Given the description of an element on the screen output the (x, y) to click on. 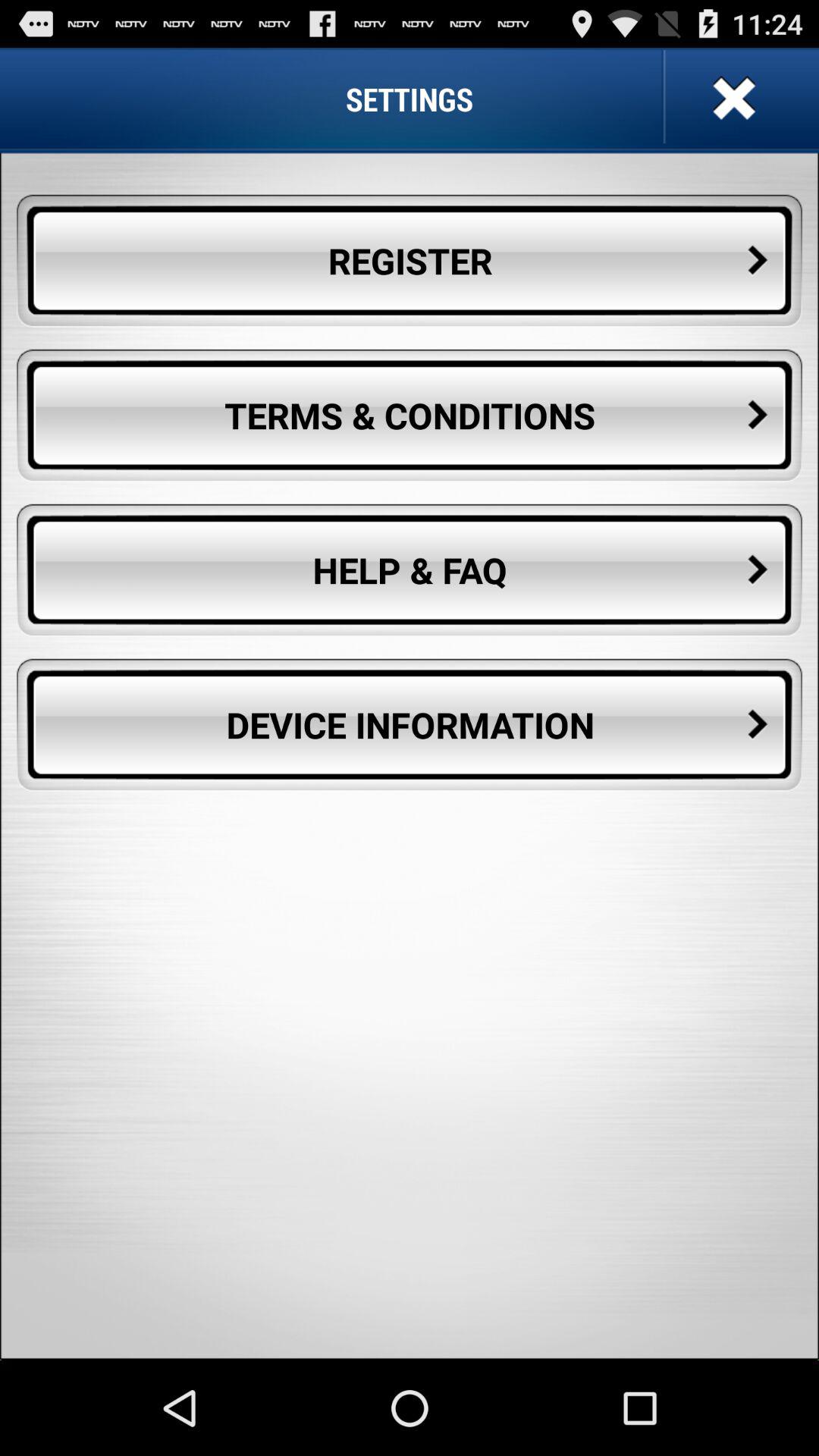
close settings page (732, 99)
